Given the description of an element on the screen output the (x, y) to click on. 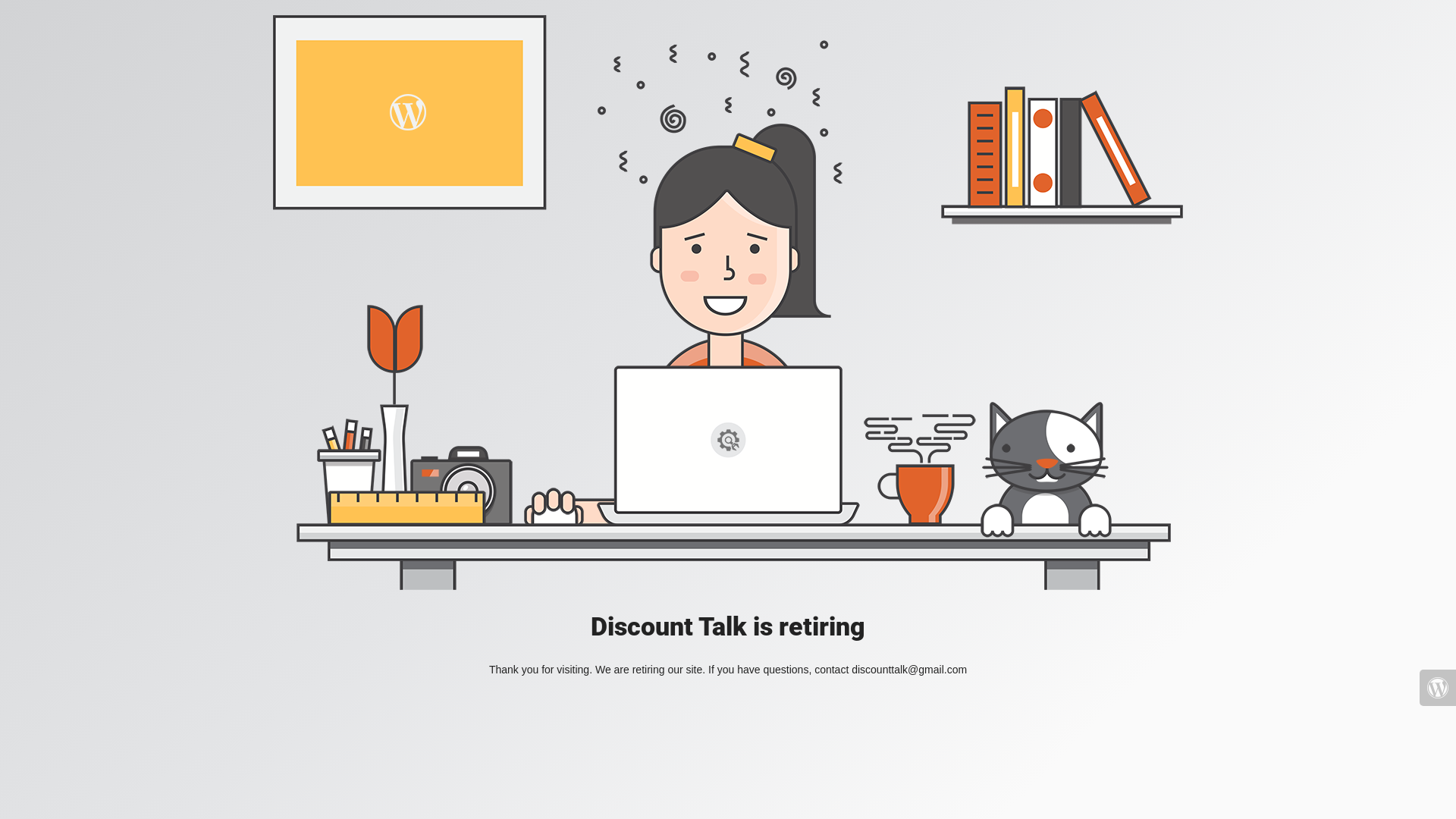
Cyber Chick at work Element type: hover (728, 302)
